Given the description of an element on the screen output the (x, y) to click on. 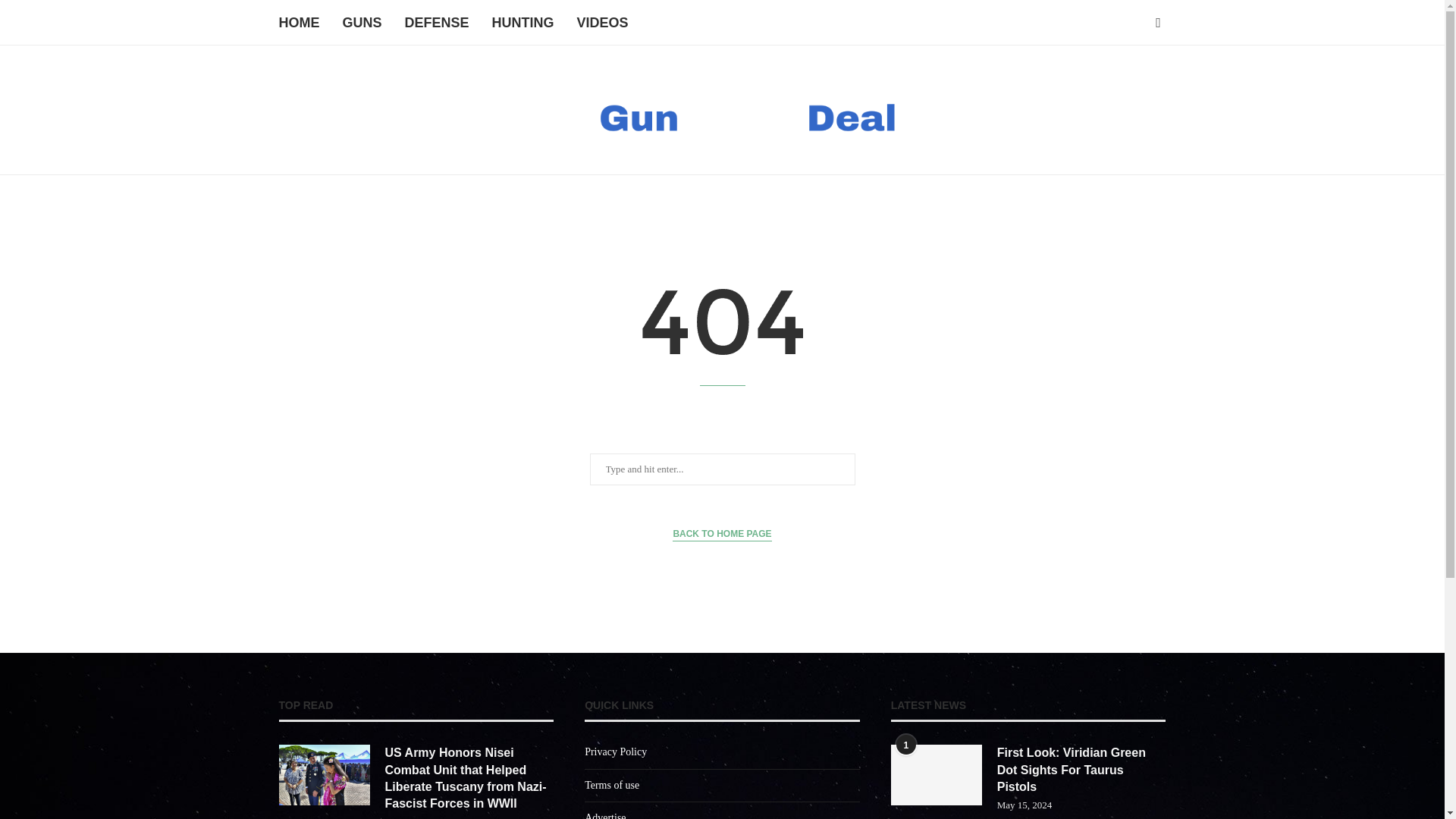
Privacy Policy (615, 751)
Search (35, 15)
HUNTING (523, 22)
First Look: Viridian Green Dot Sights For Taurus Pistols (1081, 769)
First Look: Viridian Green Dot Sights For Taurus Pistols (1081, 769)
Terms of use (612, 785)
DEFENSE (436, 22)
Advertise (605, 815)
GUNS (361, 22)
BACK TO HOME PAGE (721, 534)
First Look: Viridian Green Dot Sights For Taurus Pistols (936, 774)
HOME (299, 22)
